Given the description of an element on the screen output the (x, y) to click on. 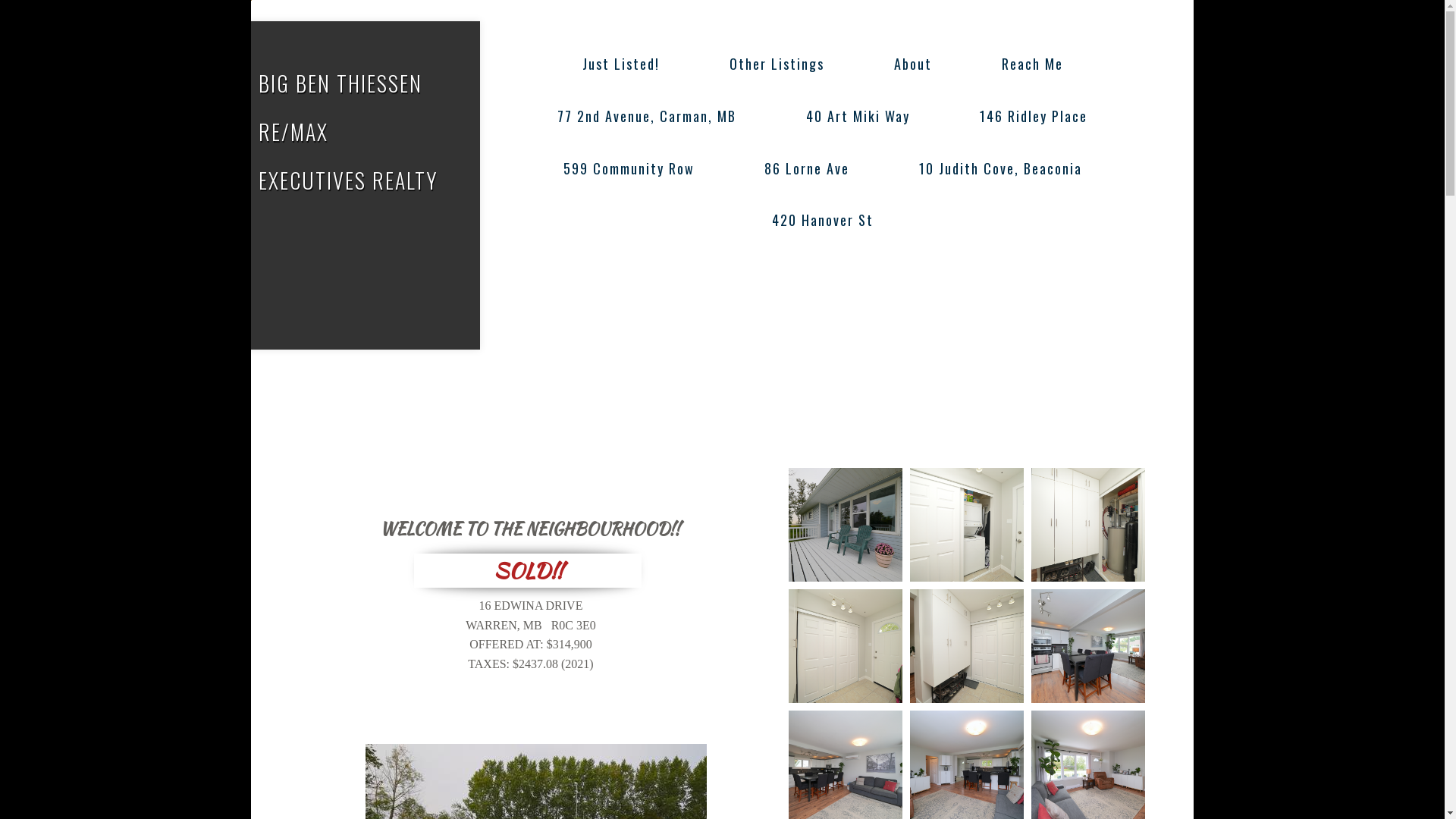
Just Listed! Element type: text (620, 63)
420 Hanover St Element type: text (821, 220)
40 Art Miki Way Element type: text (857, 116)
Other Listings Element type: text (775, 63)
146 Ridley Place Element type: text (1033, 116)
10 Judith Cove, Beaconia Element type: text (999, 168)
77 2nd Avenue, Carman, MB Element type: text (646, 116)
86 Lorne Ave Element type: text (805, 168)
About Element type: text (912, 63)
Reach Me Element type: text (1032, 63)
599 Community Row Element type: text (628, 168)
